Given the description of an element on the screen output the (x, y) to click on. 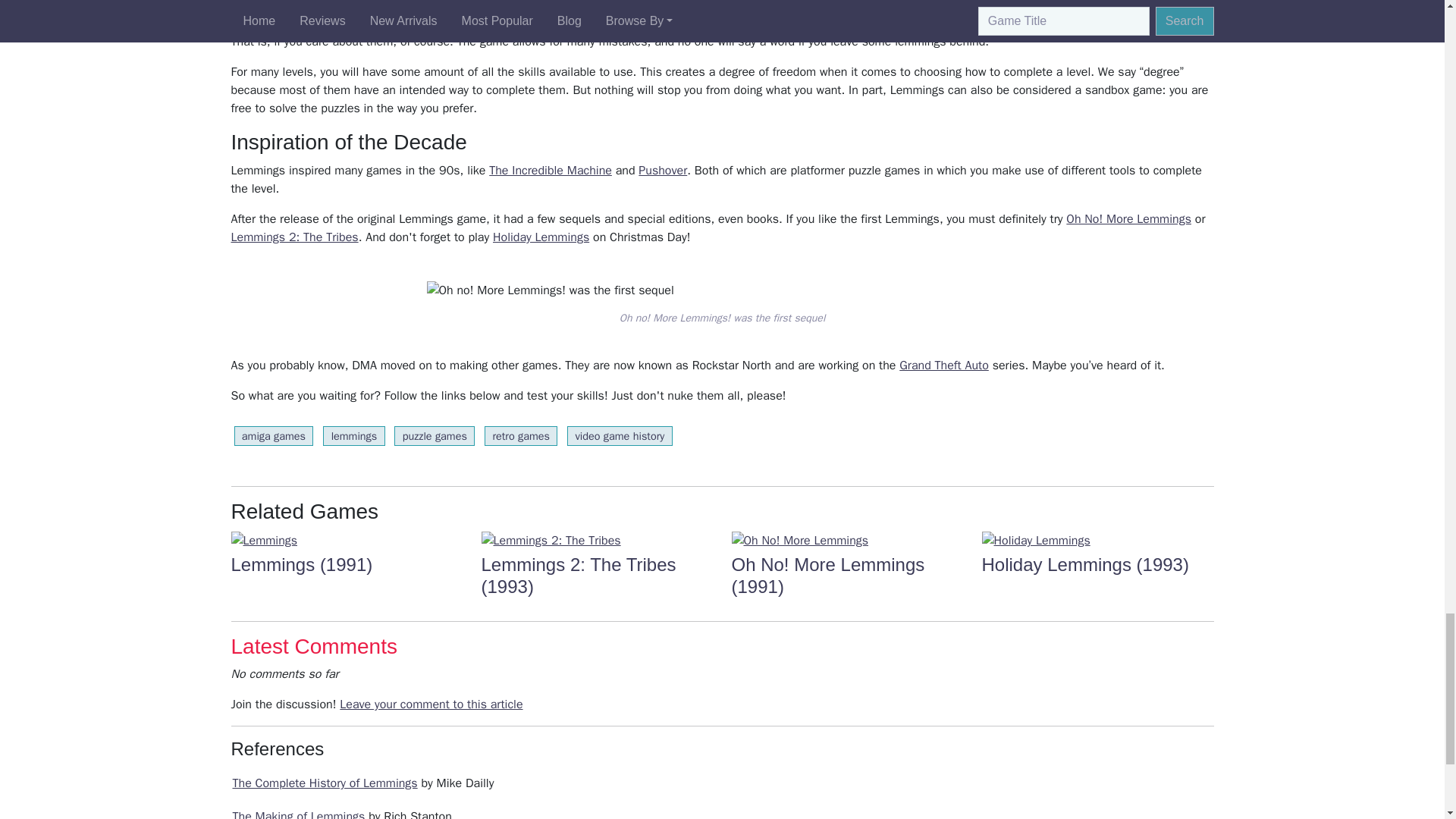
Oh No! More Lemmings (1128, 218)
Lemmings 2: The Tribes (596, 539)
Holiday Lemmings (1096, 539)
lemmings (353, 435)
Holiday Lemmings (541, 237)
retro games (520, 435)
The Incredible Machine (550, 170)
puzzle games (434, 435)
Grand Theft Auto (943, 365)
Pushover (663, 170)
